Given the description of an element on the screen output the (x, y) to click on. 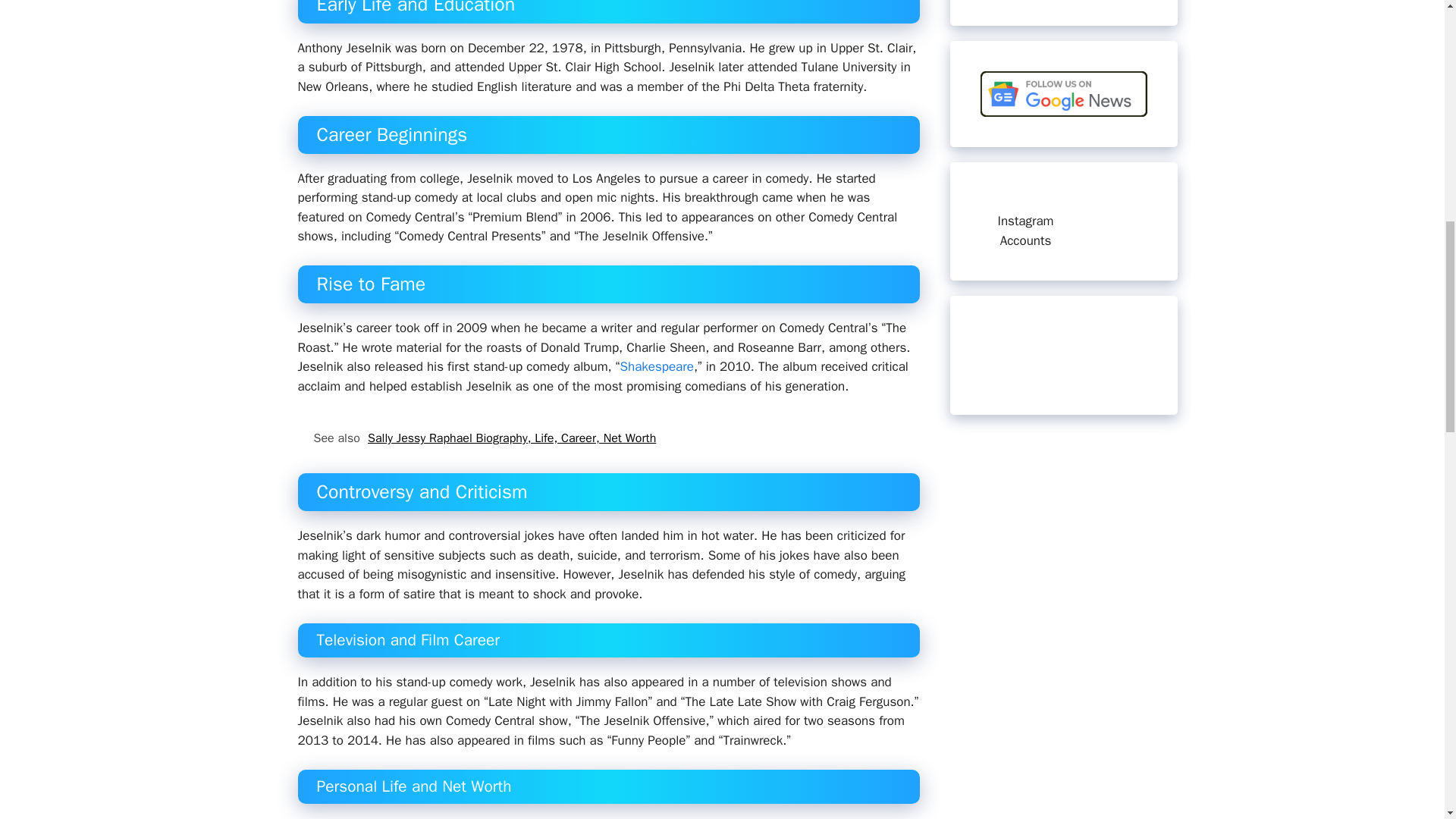
Shakespeare (656, 366)
Instagram Accounts (1024, 230)
Scroll back to top (1406, 720)
